Given the description of an element on the screen output the (x, y) to click on. 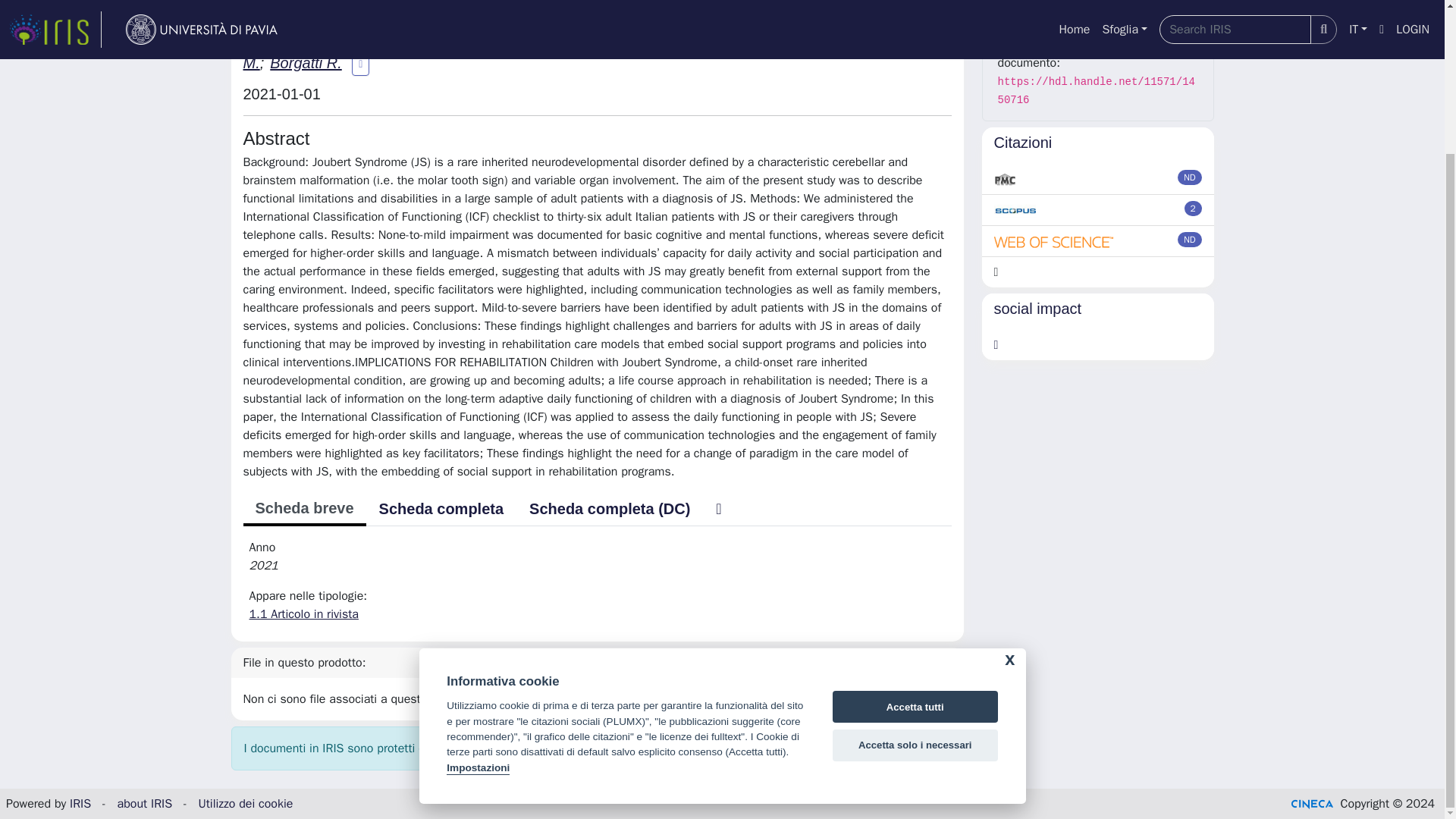
Valente E. M. (586, 51)
Scheda breve (304, 509)
Romaniello R. (293, 39)
Santucci M. (723, 39)
Signorini S. (811, 39)
Gagliardi C. (392, 39)
Borgatti R. (304, 62)
aggiornato in data 29-06-2024 19:27 (1193, 208)
1.1 Articolo in rivista (303, 613)
 Informazioni (1097, 2)
Provenzi L. (480, 39)
D'Arrigo S. (563, 39)
Scheda completa (441, 508)
Nuovo S. (641, 39)
